Given the description of an element on the screen output the (x, y) to click on. 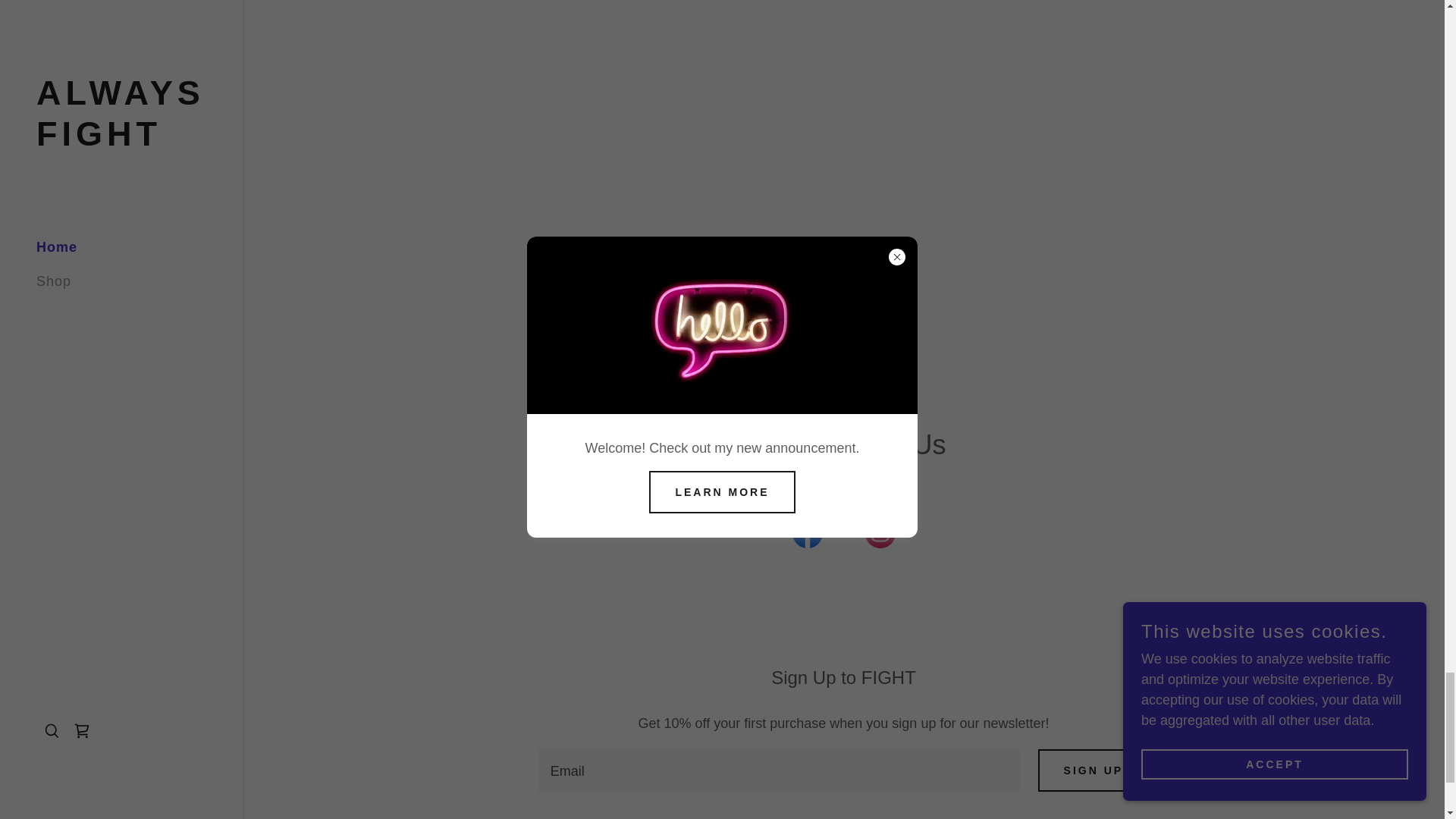
SIGN UP (1094, 770)
